Given the description of an element on the screen output the (x, y) to click on. 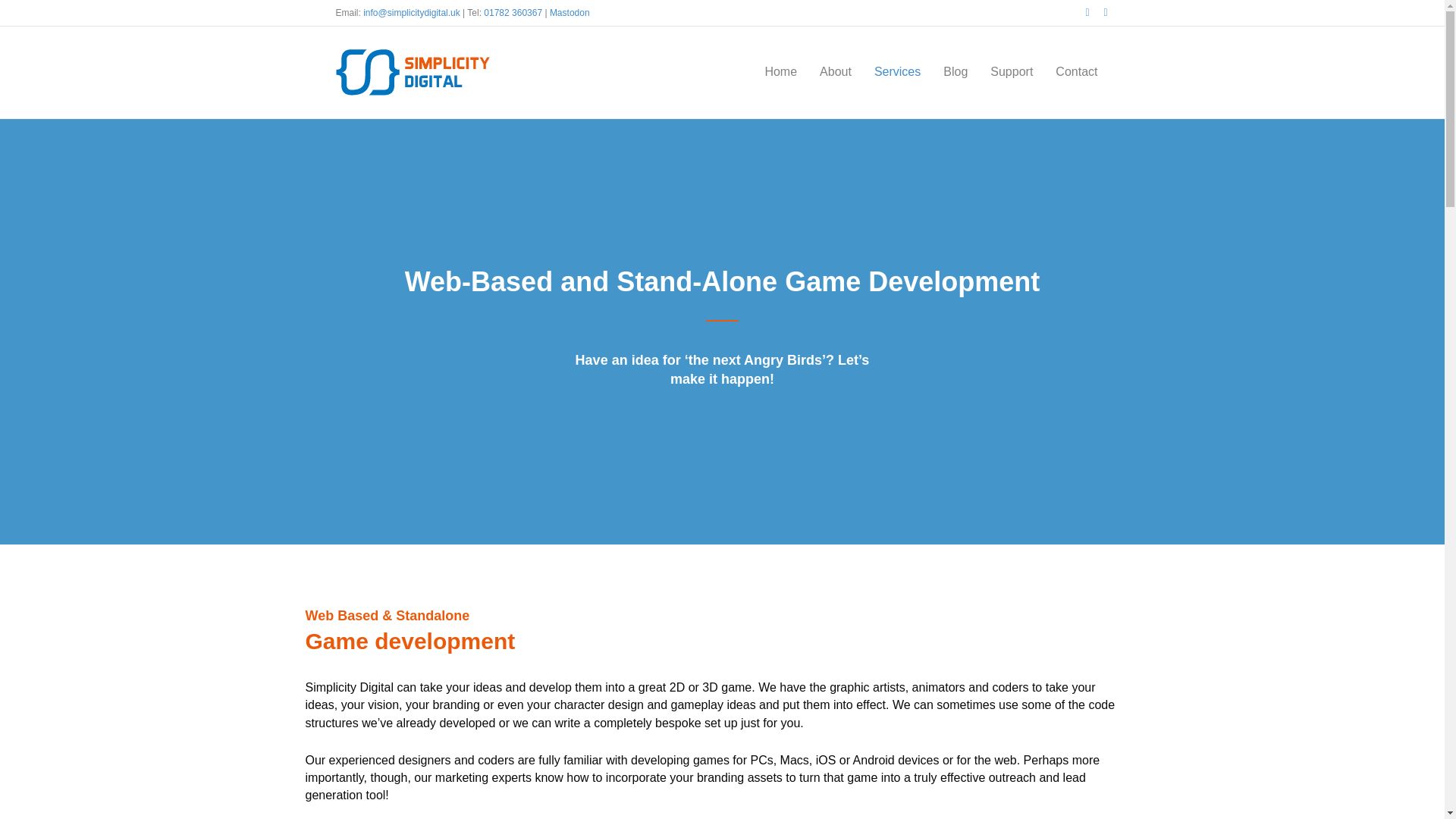
About (835, 71)
Linkedin (1097, 11)
Services (897, 71)
Support (1010, 71)
Facebook (1079, 11)
Home (780, 71)
01782 360367 (512, 12)
Contact (1075, 71)
Mastodon (569, 12)
Blog (954, 71)
